Given the description of an element on the screen output the (x, y) to click on. 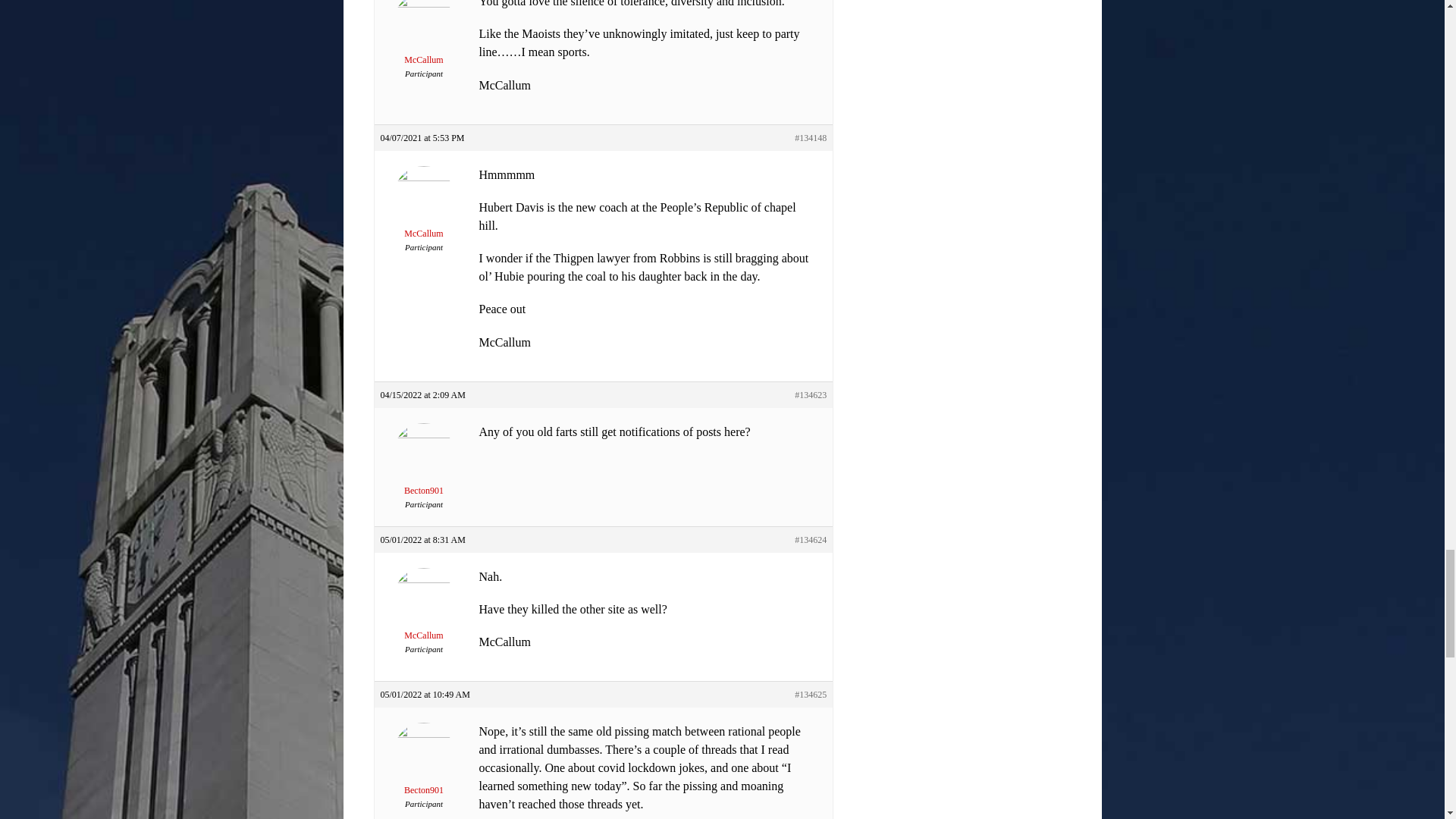
View Becton901's profile (423, 469)
McCallum (423, 212)
View McCallum's profile (423, 212)
View McCallum's profile (423, 614)
View Becton901's profile (423, 769)
McCallum (423, 39)
View McCallum's profile (423, 39)
